Given the description of an element on the screen output the (x, y) to click on. 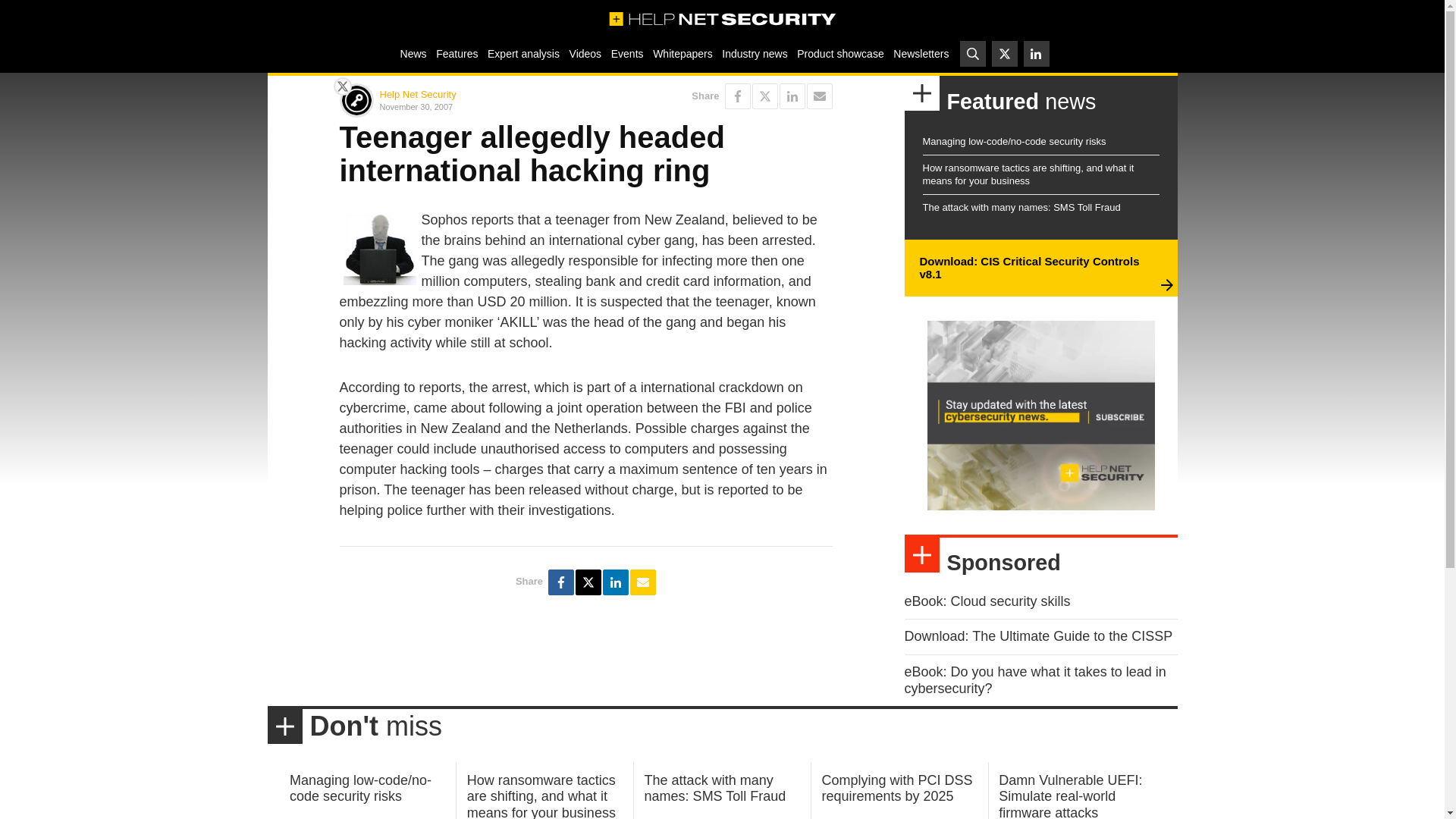
Features (456, 53)
Product showcase (840, 53)
Expert analysis (523, 53)
Industry news (754, 53)
Download: The Ultimate Guide to the CISSP (1038, 635)
November 30, 2007 (478, 106)
